Given the description of an element on the screen output the (x, y) to click on. 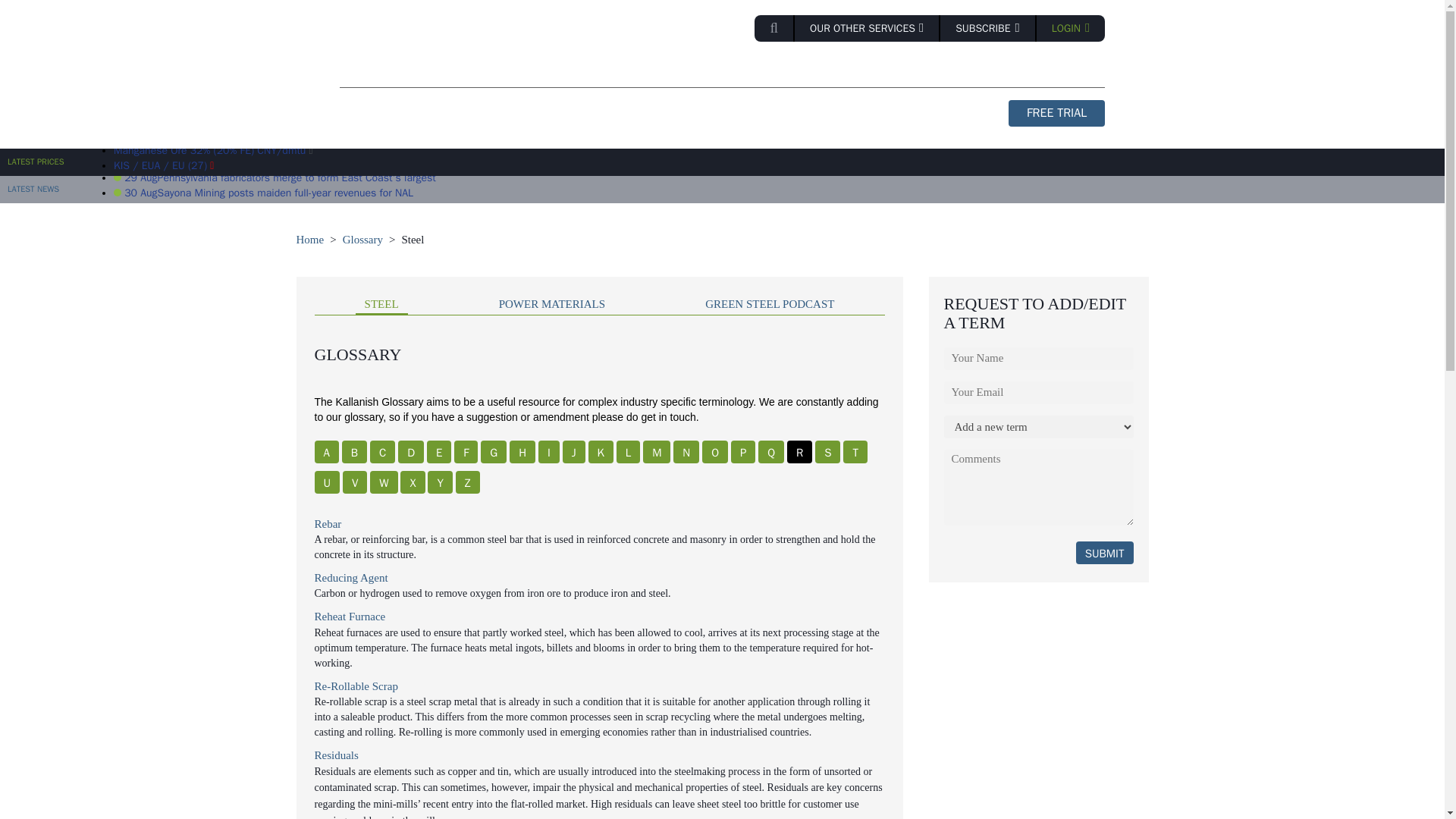
POWER MATERIALS (680, 71)
SUBSCRIBE (988, 28)
STEEL NEWS (561, 71)
Submit (1104, 552)
LOGIN (1070, 28)
OUR OTHER SERVICES (867, 28)
